Given the description of an element on the screen output the (x, y) to click on. 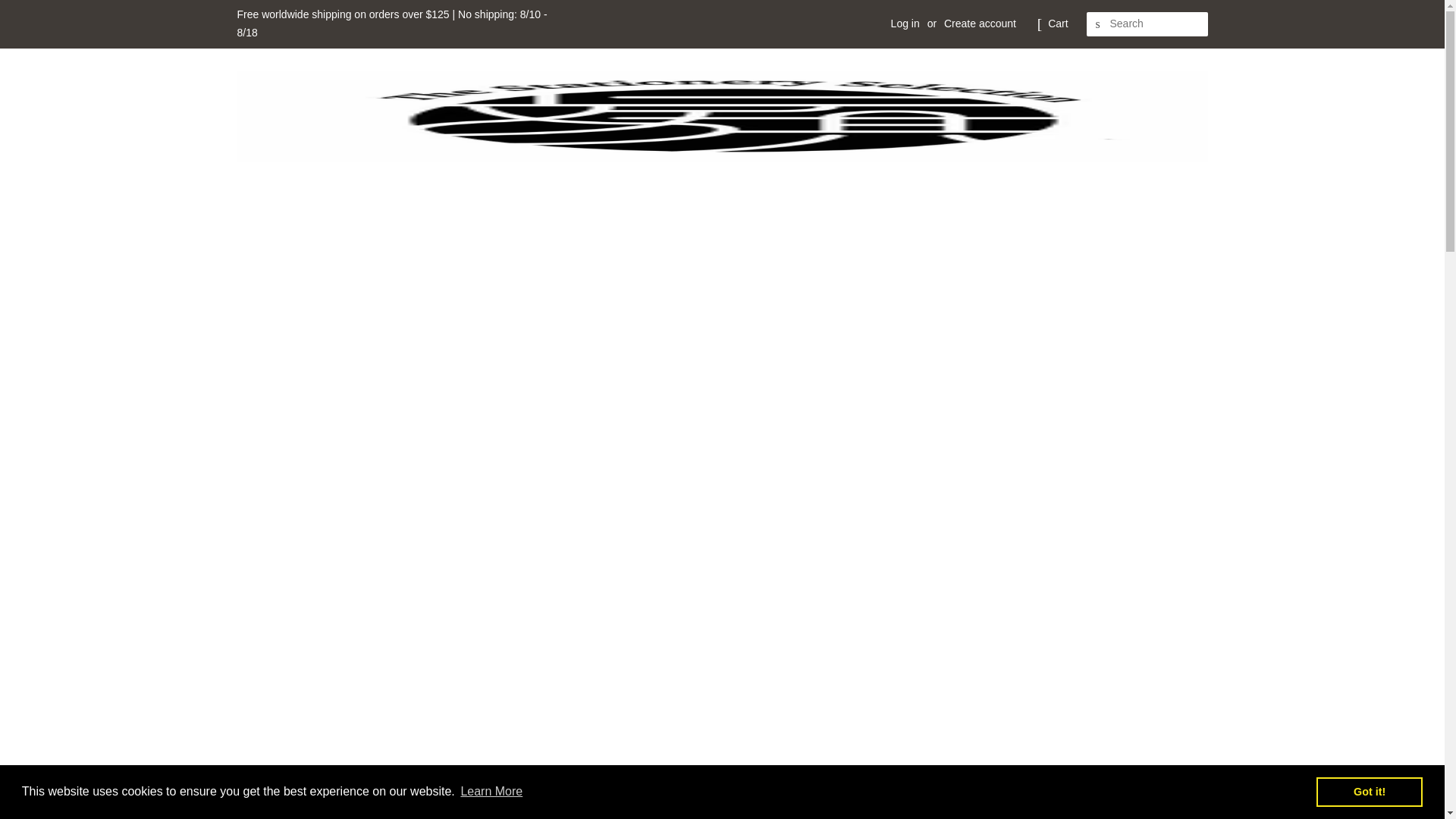
Log in (905, 23)
Cart (1057, 24)
Got it! (1369, 791)
SEARCH (1097, 24)
Learn More (491, 791)
Create account (979, 23)
